Given the description of an element on the screen output the (x, y) to click on. 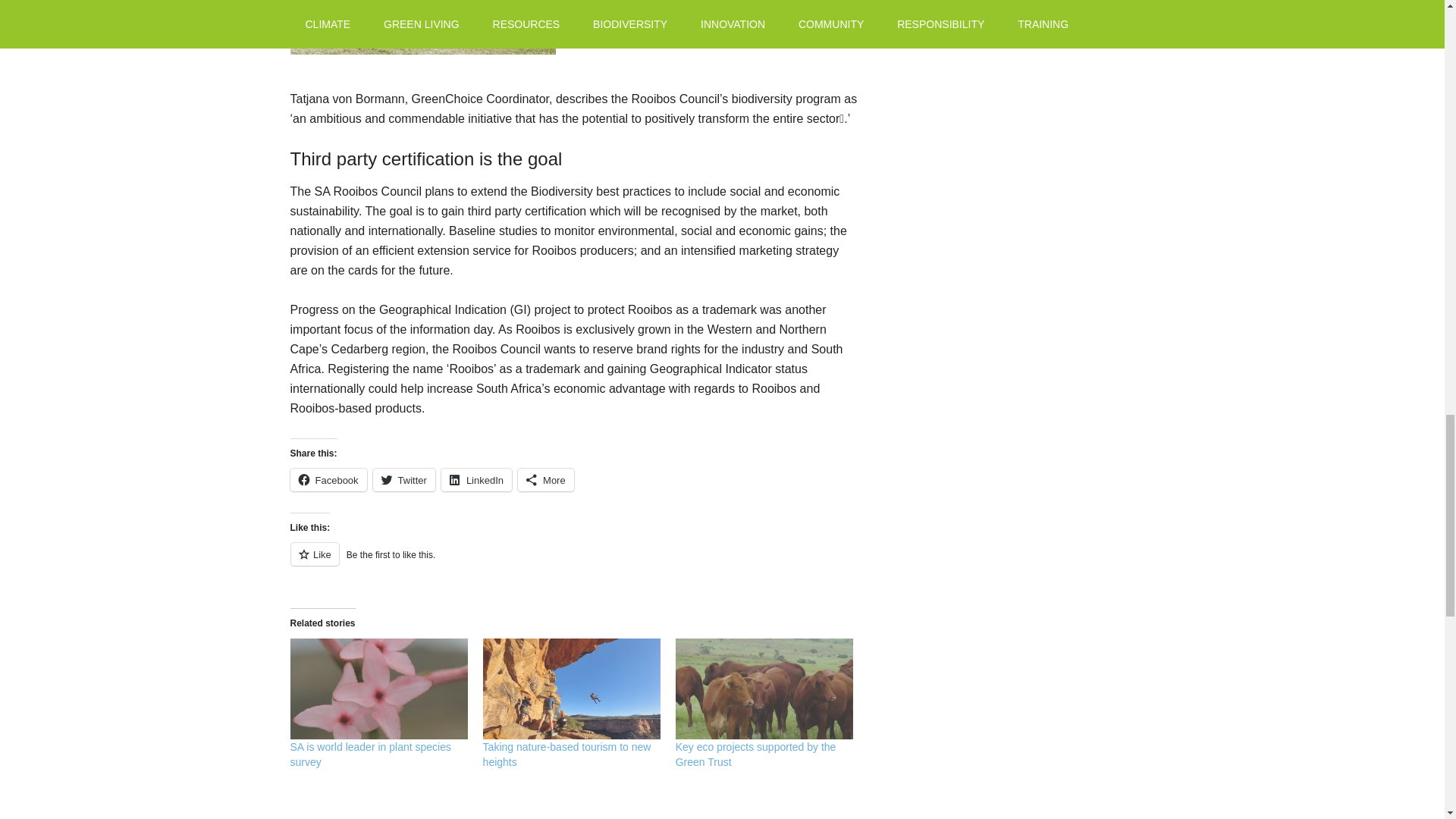
Key eco projects supported by the Green Trust (764, 689)
Click to share on Twitter (403, 479)
Key eco projects supported by the Green Trust (755, 754)
SA is world leader in plant species survey (369, 754)
Click to share on Facebook (327, 479)
Taking nature-based tourism to new heights (566, 754)
Click to share on LinkedIn (476, 479)
SA is world leader in plant species survey (378, 689)
Taking nature-based tourism to new heights (572, 689)
Like or Reblog (574, 562)
